Given the description of an element on the screen output the (x, y) to click on. 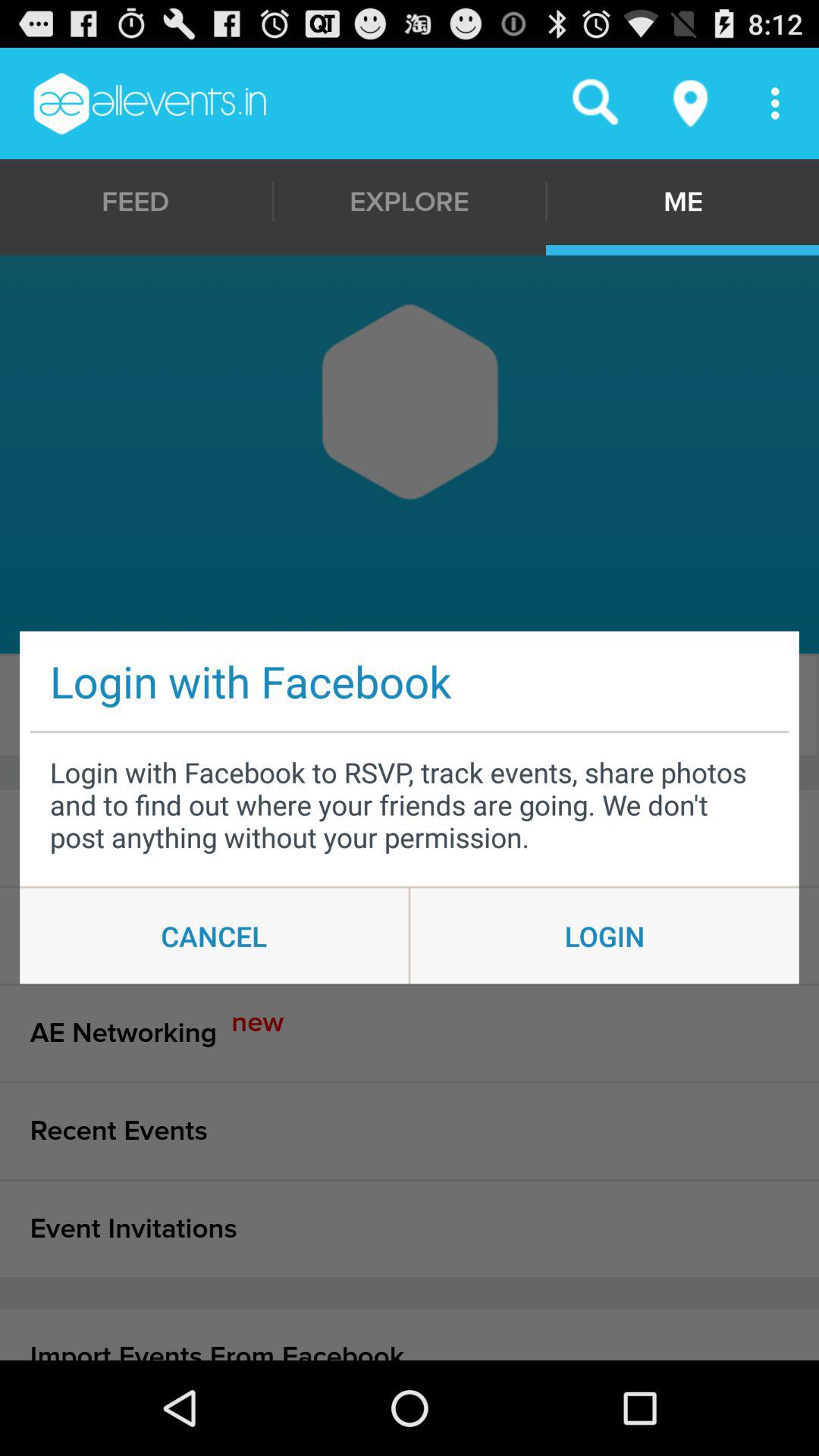
press item to the left of the following icon (406, 705)
